Given the description of an element on the screen output the (x, y) to click on. 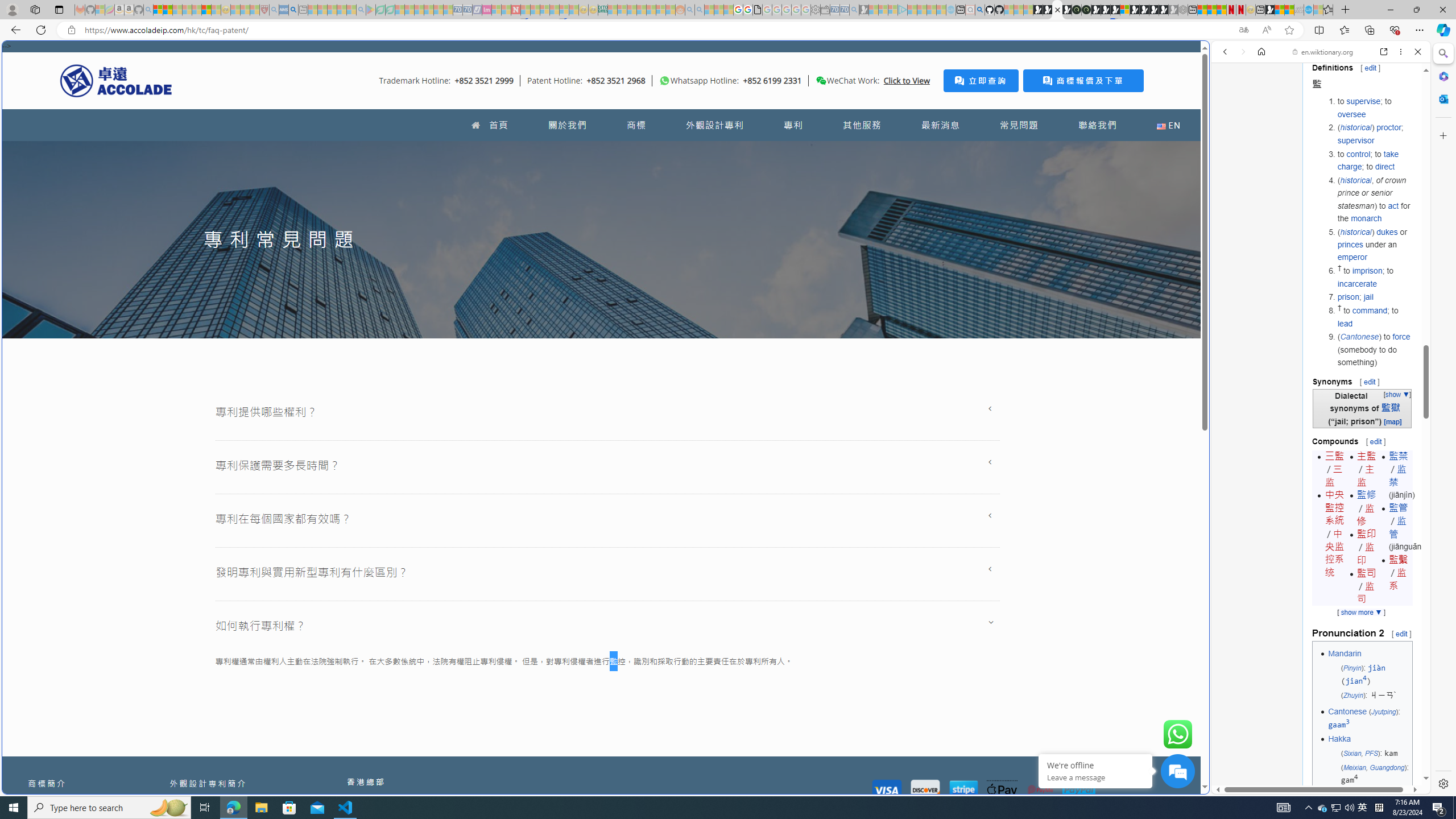
Tabs you've opened (885, 151)
